Given the description of an element on the screen output the (x, y) to click on. 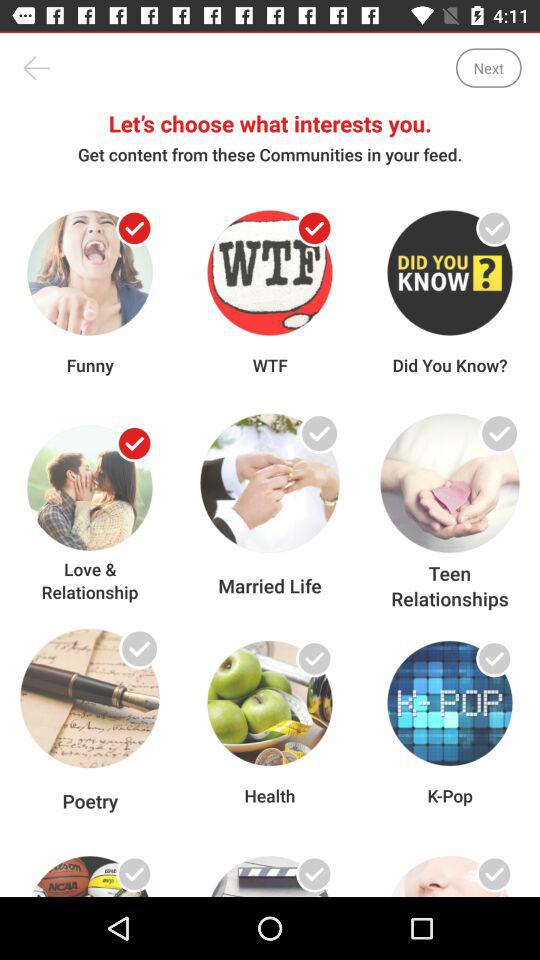
open icon above let s choose (488, 67)
